Given the description of an element on the screen output the (x, y) to click on. 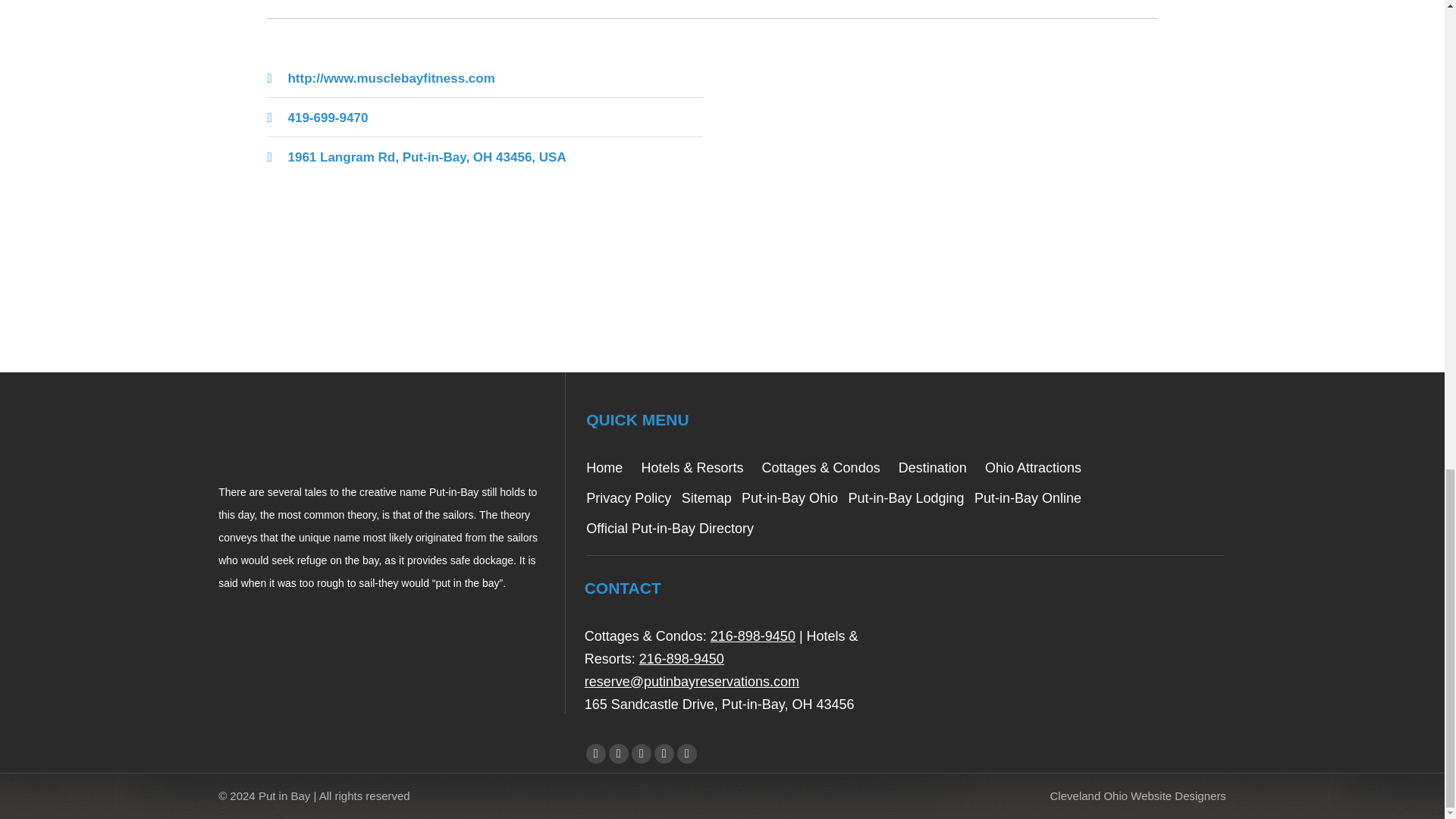
Cleveland Ohio Website Designers (1137, 795)
1961 Langram Rd, Put-in-Bay, OH 43456, USA (939, 181)
X page opens in new window (618, 752)
Pinterest page opens in new window (663, 752)
Instagram page opens in new window (687, 752)
YouTube page opens in new window (640, 752)
Facebook page opens in new window (595, 752)
